Given the description of an element on the screen output the (x, y) to click on. 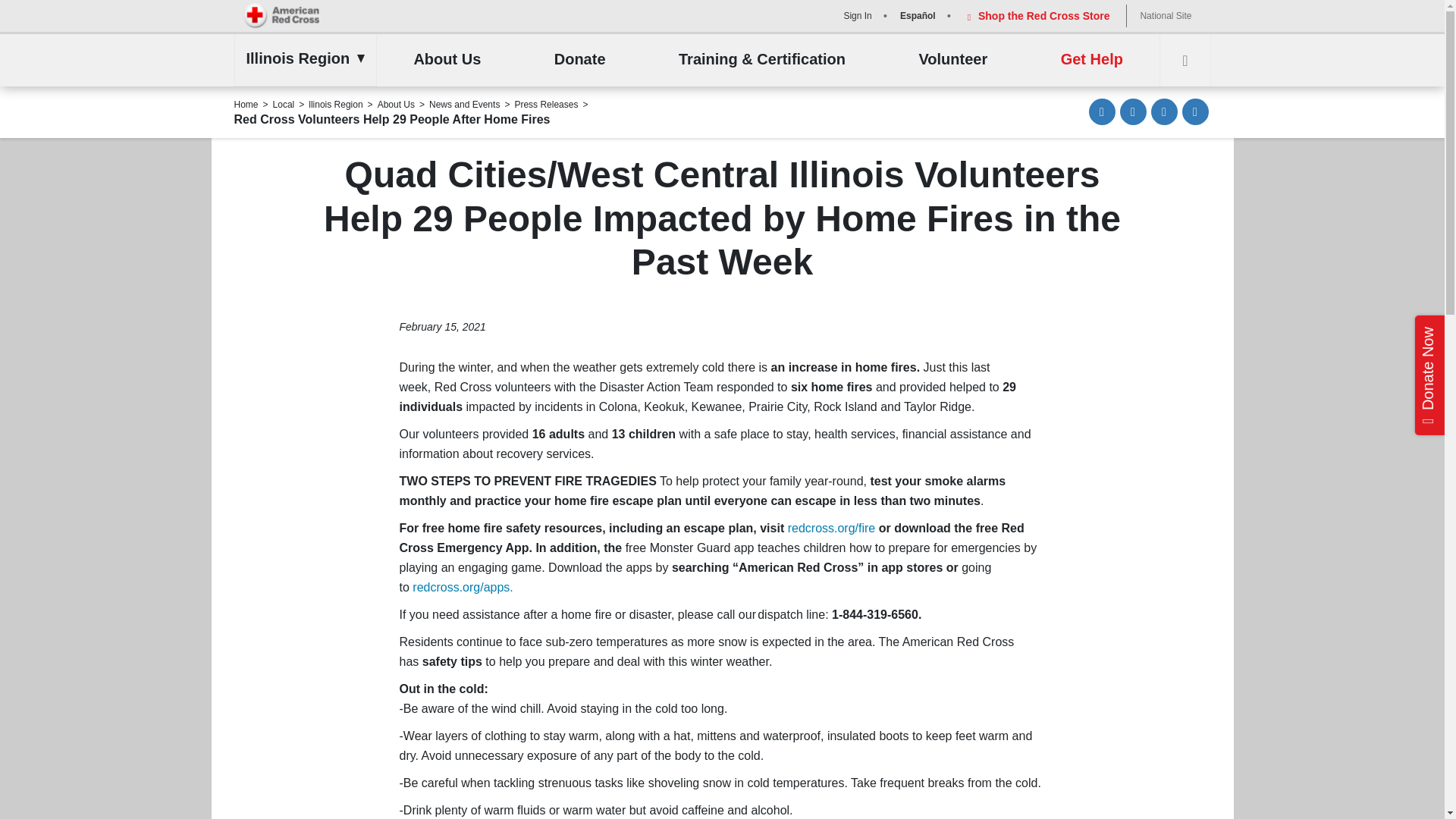
Tweet (1164, 111)
Donate (579, 59)
Sign In (855, 15)
About Us (446, 59)
Share via Email (1102, 111)
Share on Facebook (1132, 111)
Shop the Red Cross Store (1035, 15)
Other share options (1194, 111)
Illinois Region (301, 57)
National Site (1164, 15)
